Given the description of an element on the screen output the (x, y) to click on. 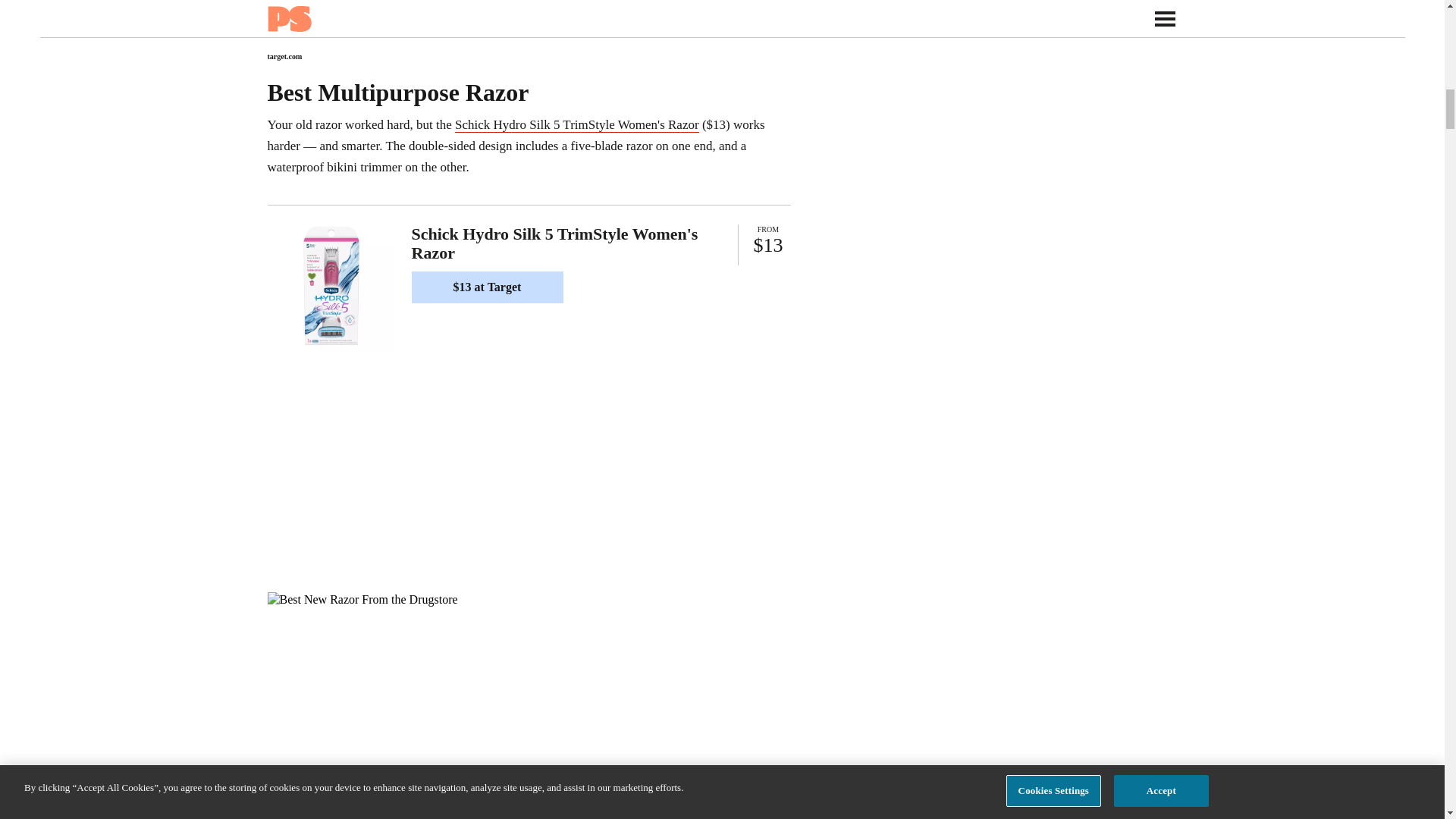
Schick Hydro Silk 5 TrimStyle Women's Razor (576, 124)
target.com (283, 56)
